Given the description of an element on the screen output the (x, y) to click on. 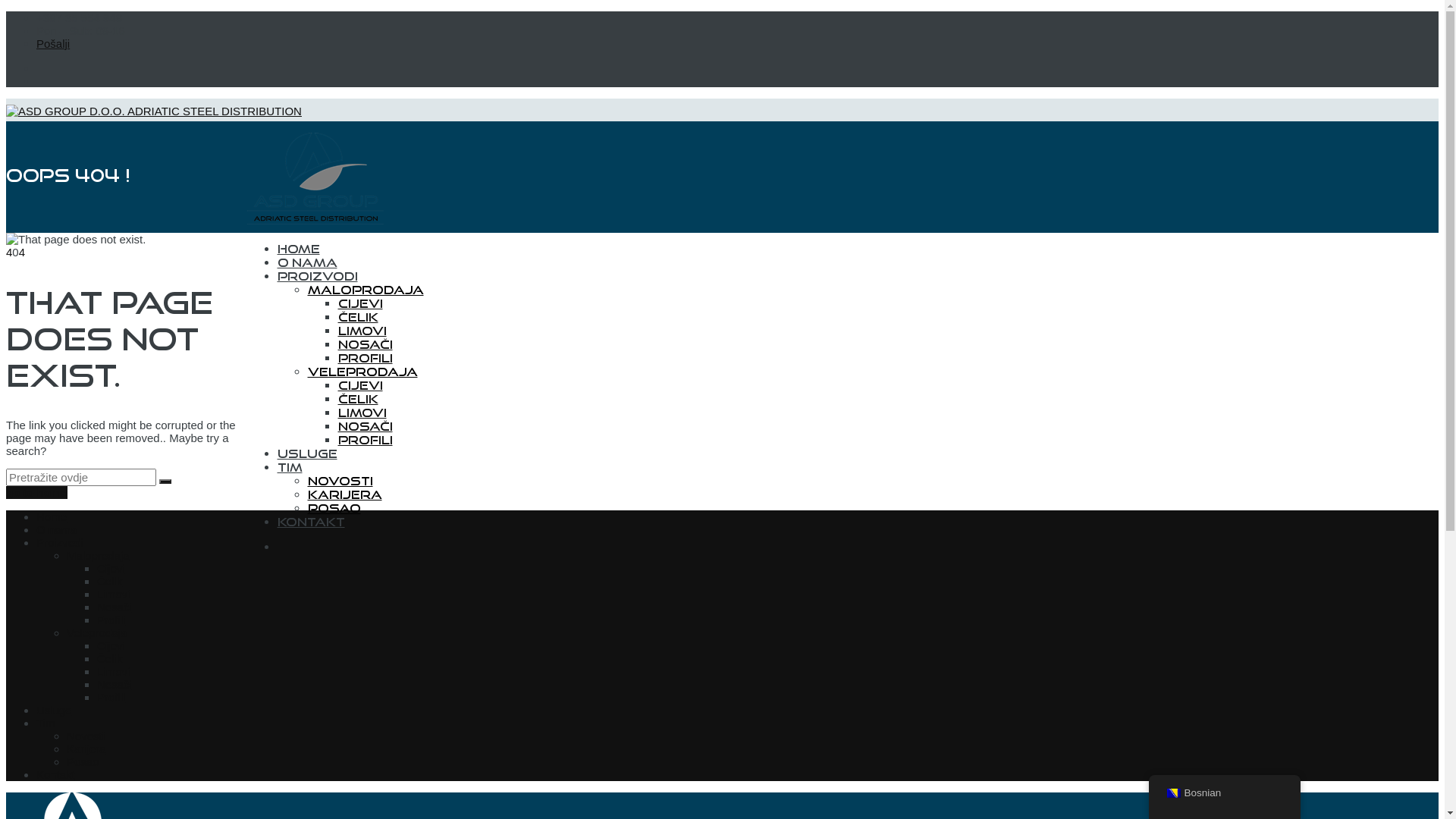
Tim Element type: text (45, 722)
Limovi Element type: text (362, 330)
Profili Element type: text (111, 696)
Cijevi Element type: text (360, 385)
Home Element type: text (51, 516)
O nama Element type: text (307, 262)
Cijevi Element type: text (111, 567)
Novosti Element type: text (340, 480)
Limovi Element type: text (362, 412)
Bosnian Element type: text (1223, 792)
Maloprodaja Element type: text (365, 289)
Karijera Element type: text (344, 494)
Tim Element type: text (289, 466)
Maloprodaja Element type: text (97, 555)
Usluge Element type: text (307, 453)
Kontakt Element type: text (311, 521)
Usluge Element type: text (54, 709)
Profili Element type: text (365, 439)
Skip to content Element type: text (5, 232)
Profili Element type: text (111, 619)
Veleprodaja Element type: text (362, 371)
Posao Element type: text (333, 507)
Karijera Element type: text (86, 748)
Proizvodi Element type: text (317, 275)
go to home Element type: text (36, 492)
Profili Element type: text (365, 357)
Kontakt Element type: text (55, 774)
Bosnian Element type: hover (1172, 792)
Veleprodaja Element type: text (96, 632)
Cijevi Element type: text (360, 303)
Cijevi Element type: text (111, 645)
O nama Element type: text (56, 529)
Proizvodi Element type: text (59, 542)
Limovi Element type: text (113, 593)
Home Element type: text (298, 248)
Novosti Element type: text (85, 735)
Limovi Element type: text (113, 671)
Posao Element type: text (82, 761)
